Given the description of an element on the screen output the (x, y) to click on. 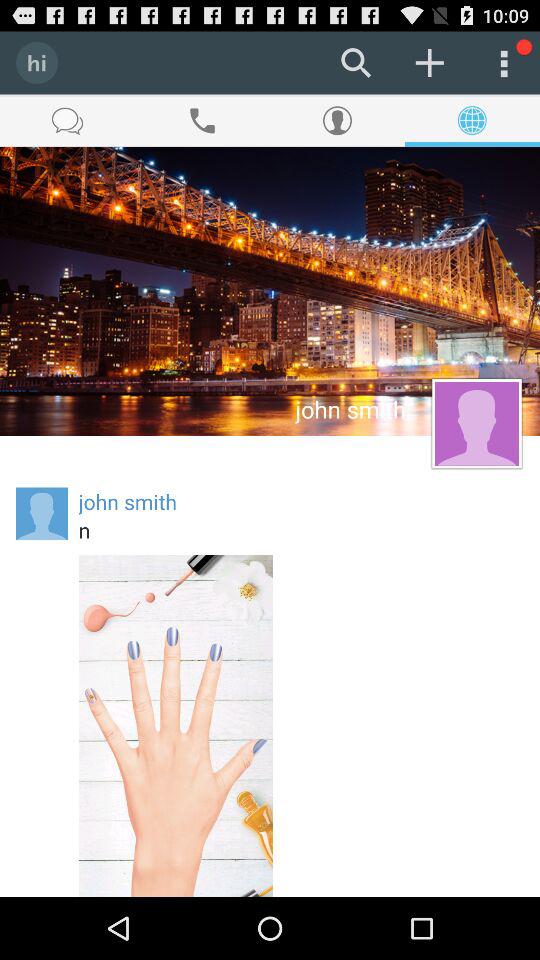
turn off item to the left of john smith app (41, 513)
